Given the description of an element on the screen output the (x, y) to click on. 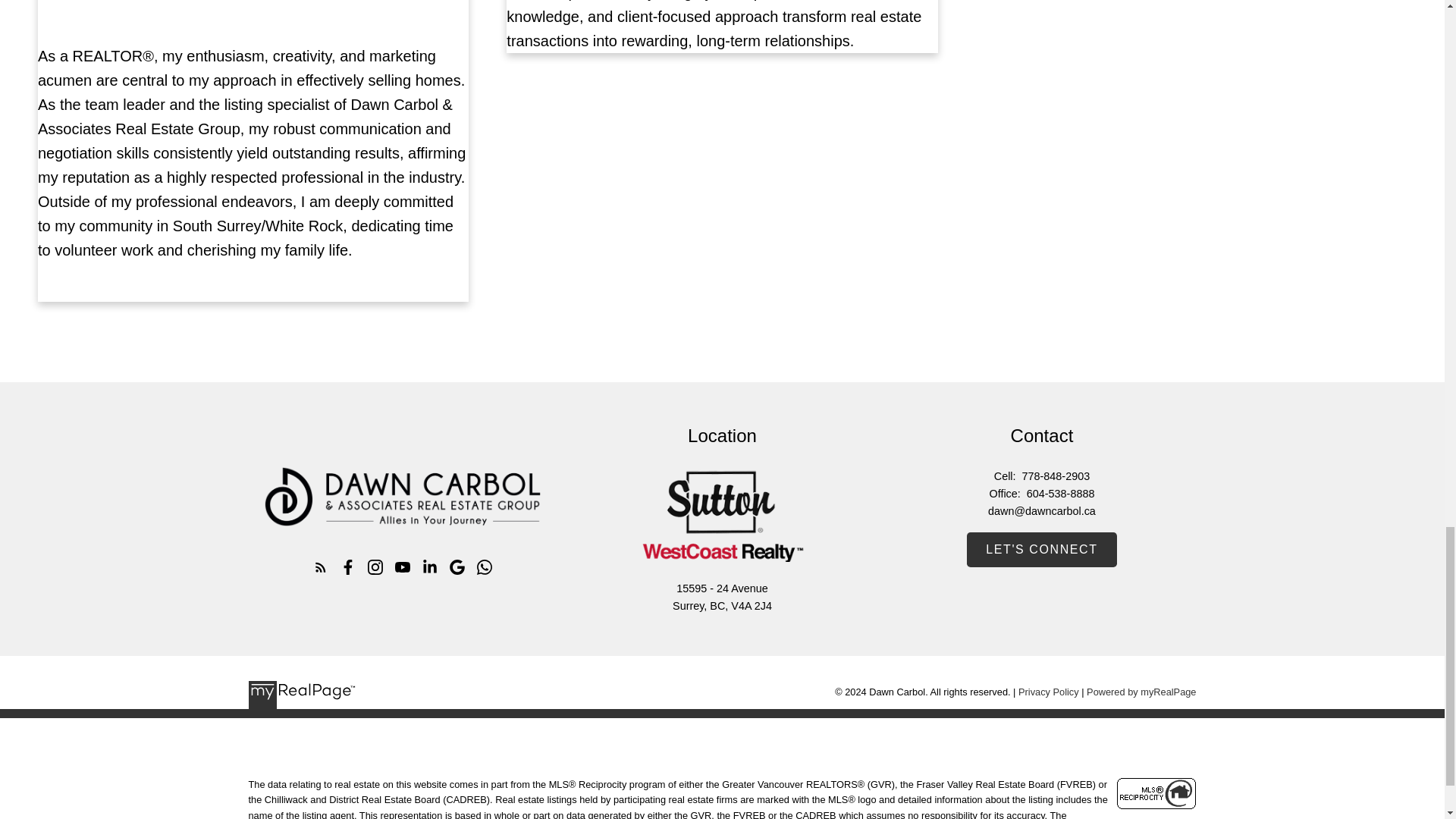
Privacy Policy (1047, 691)
Cell:  778-848-2903 (1040, 476)
LET'S CONNECT (1041, 549)
Office:  604-538-8888 (1040, 493)
